Given the description of an element on the screen output the (x, y) to click on. 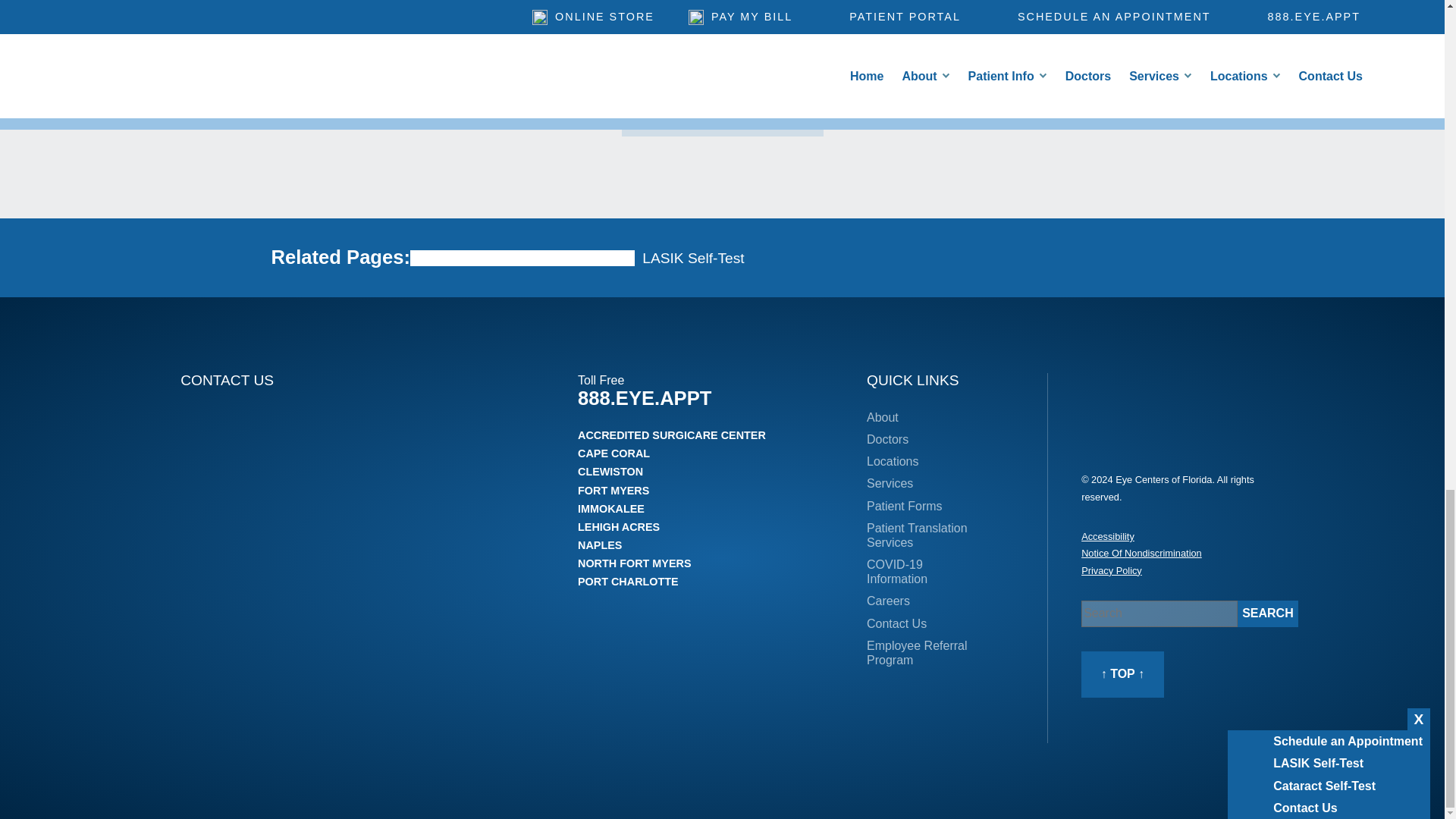
Search (1267, 613)
Search (1267, 613)
LASIK Self-Test (692, 258)
